Given the description of an element on the screen output the (x, y) to click on. 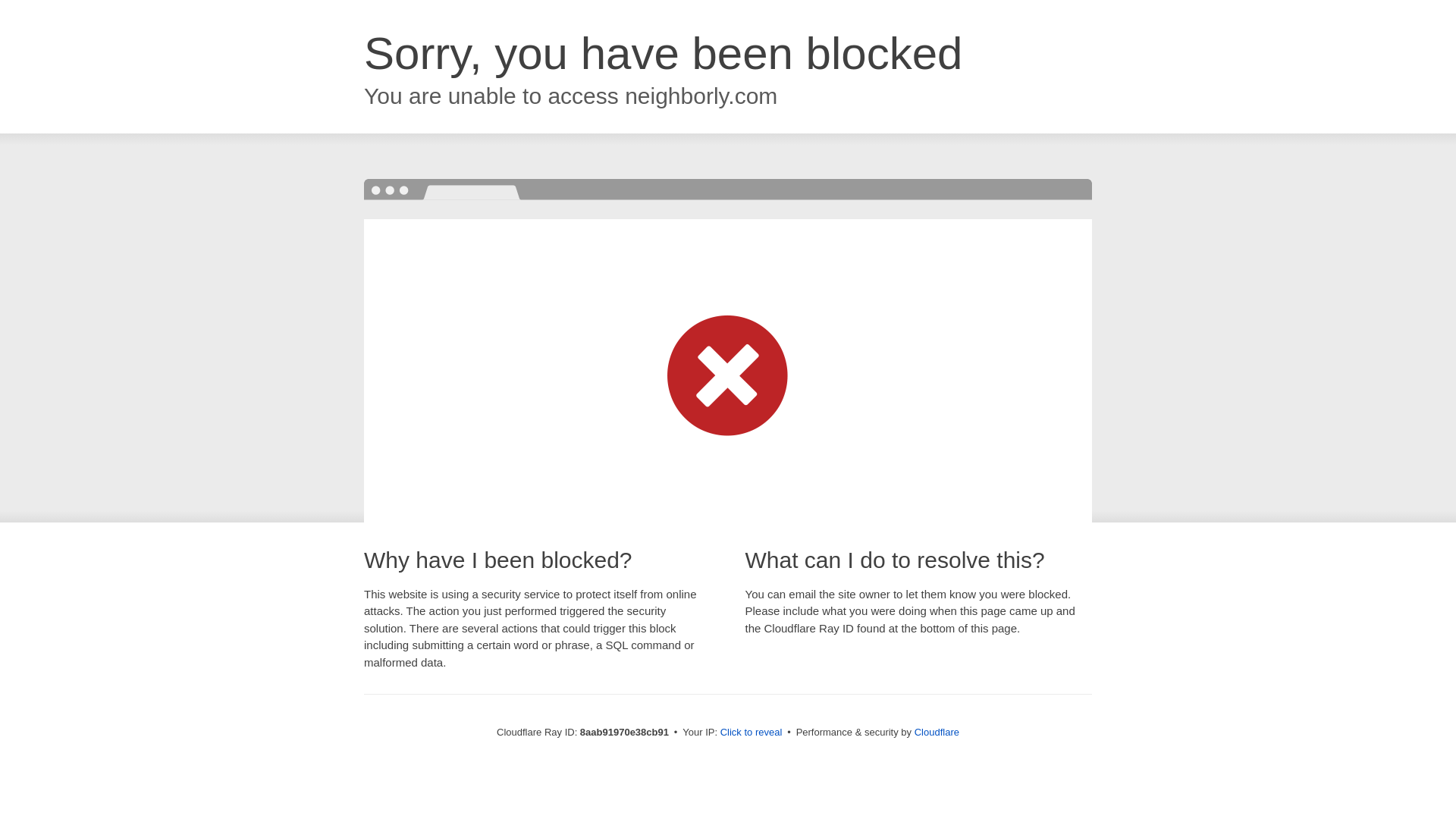
Click to reveal (751, 732)
Cloudflare (936, 731)
